Given the description of an element on the screen output the (x, y) to click on. 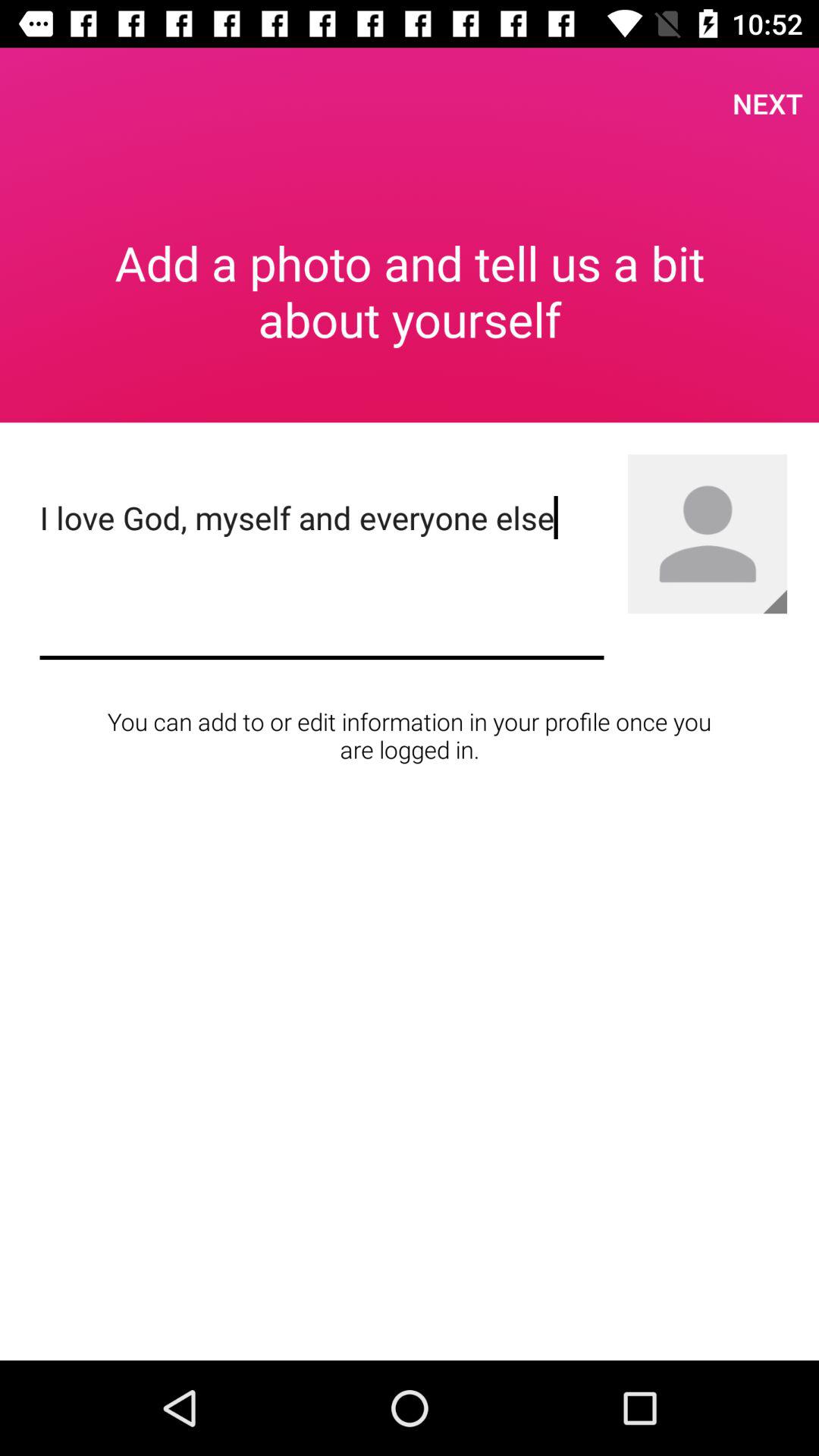
add a photo (775, 601)
